Given the description of an element on the screen output the (x, y) to click on. 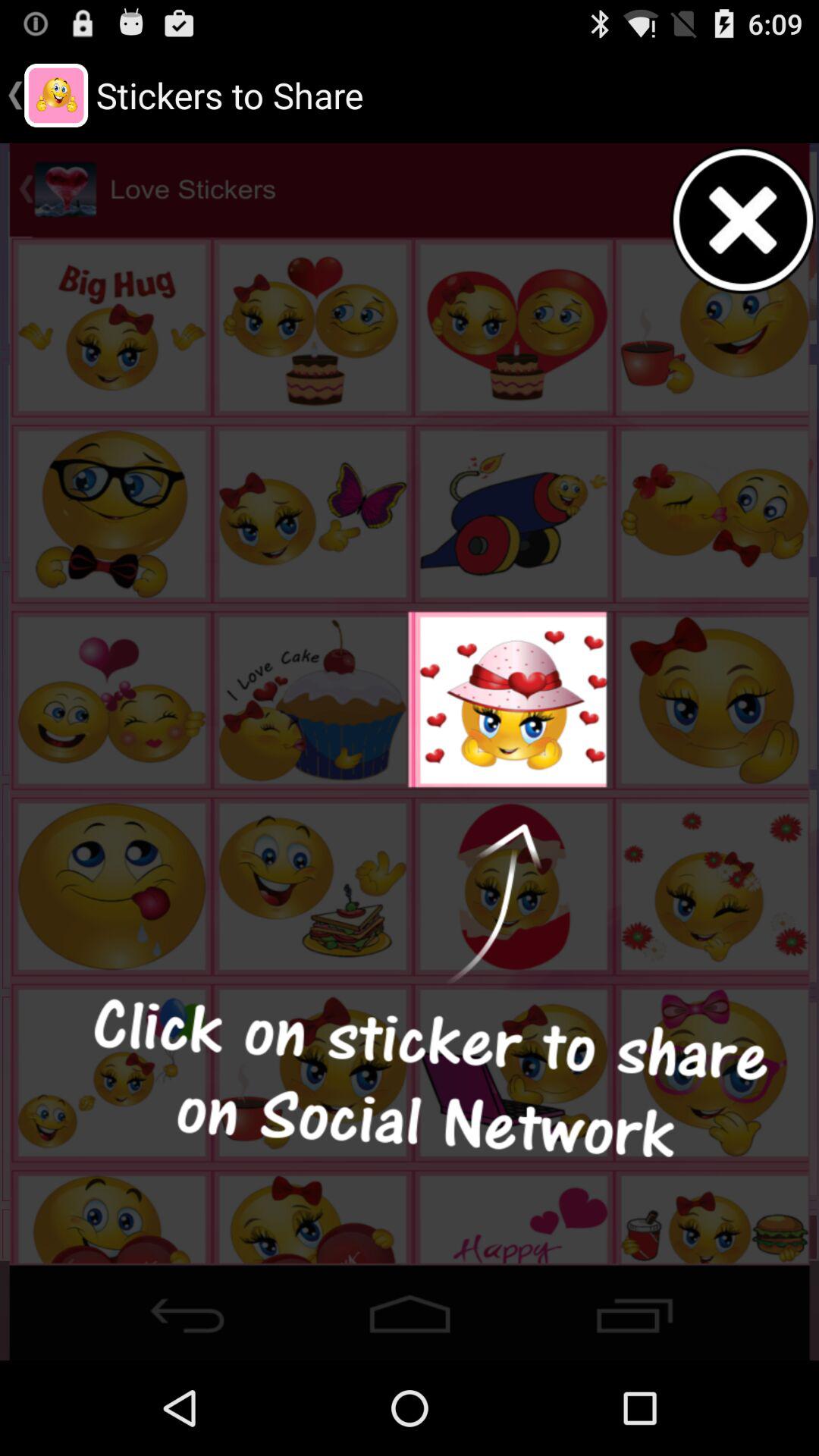
close page (744, 219)
